Given the description of an element on the screen output the (x, y) to click on. 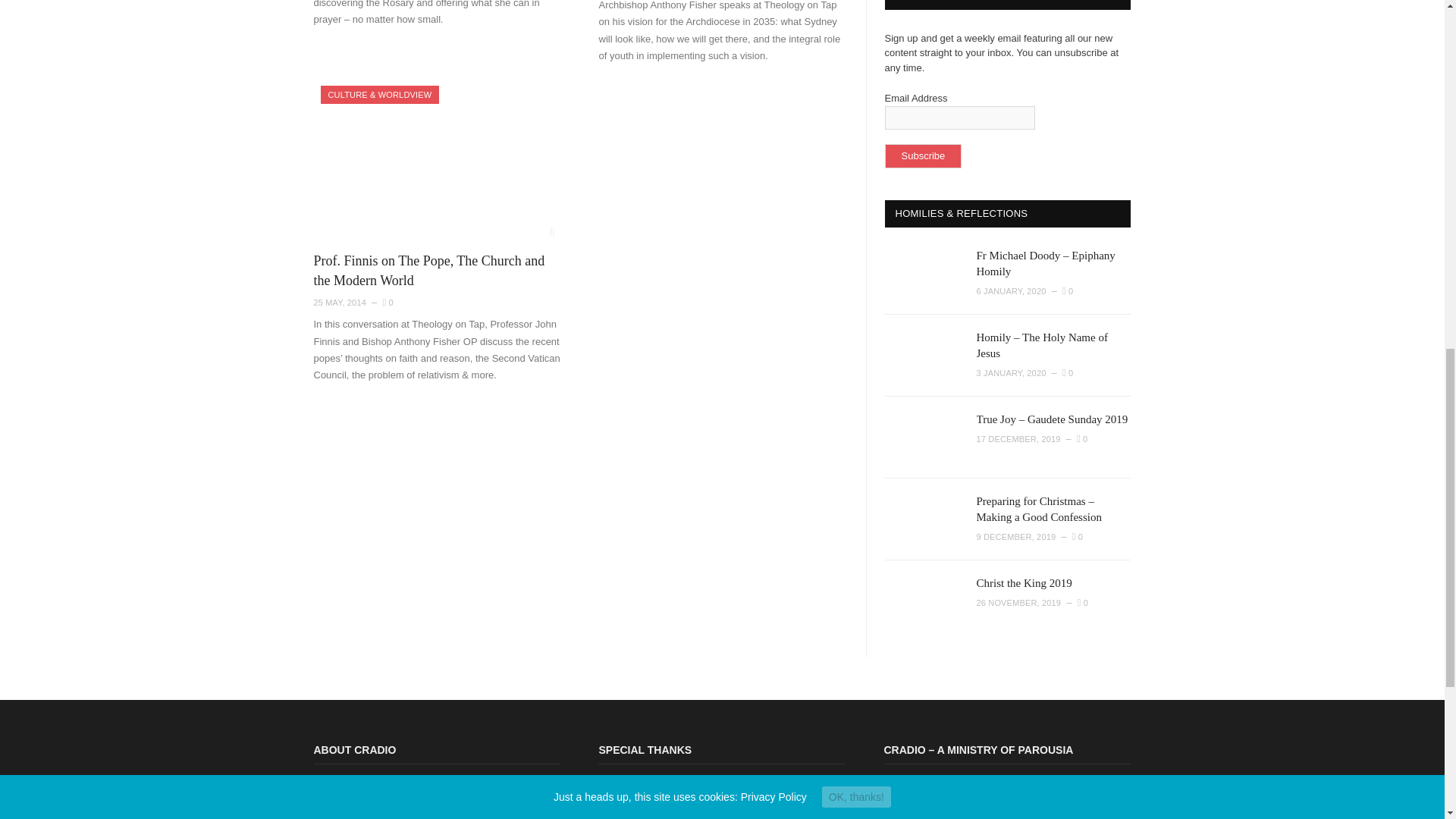
Subscribe (921, 156)
